Given the description of an element on the screen output the (x, y) to click on. 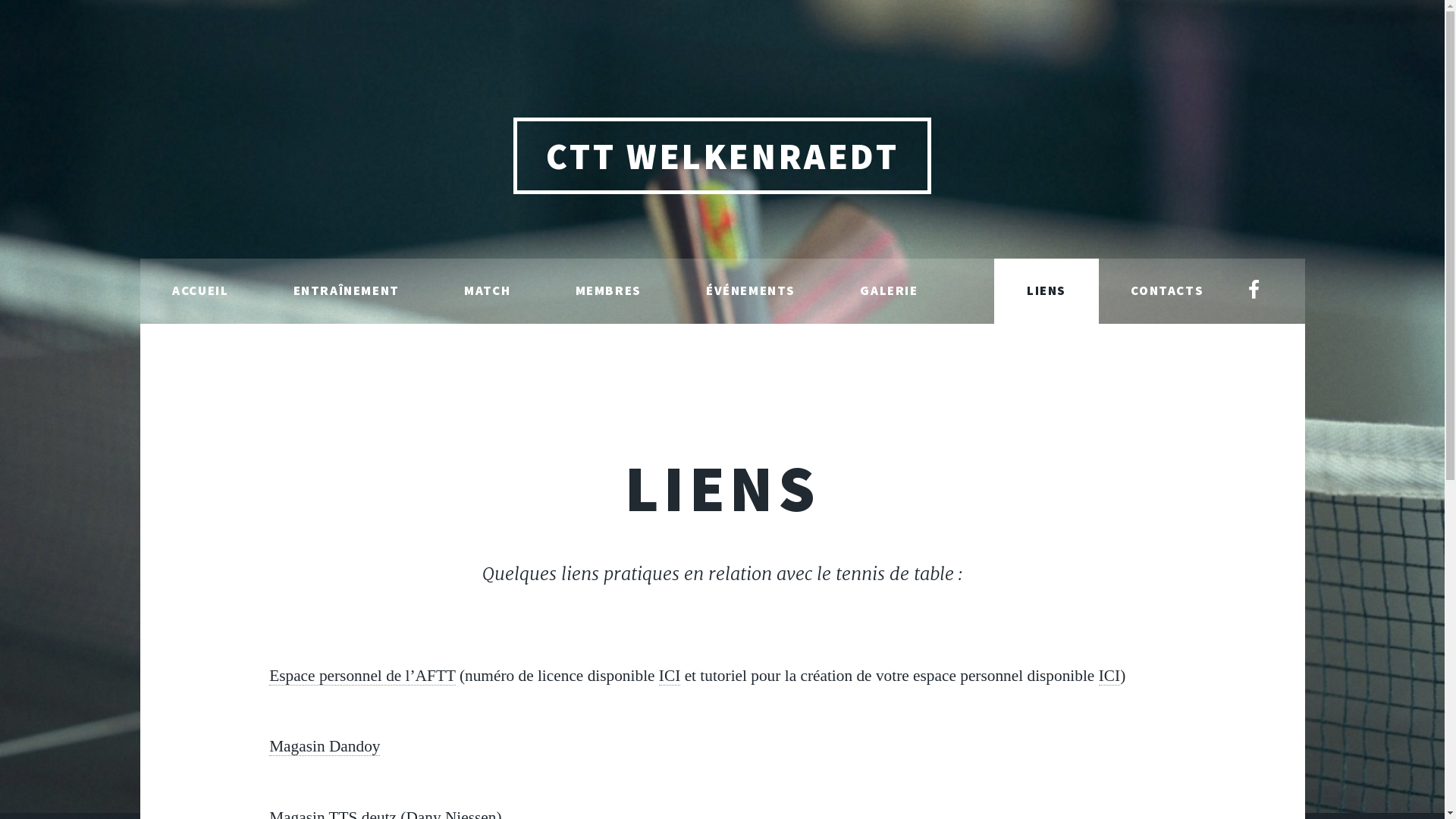
MATCH Element type: text (487, 290)
CONTACTS Element type: text (1167, 290)
MEMBRES Element type: text (608, 290)
ACCUEIL Element type: text (199, 290)
ICI Element type: text (1109, 675)
GALERIE PHOTOS Element type: text (911, 323)
CTT WELKENRAEDT Element type: text (722, 155)
LIENS Element type: text (1046, 290)
ICI Element type: text (669, 675)
Magasin Dandoy Element type: text (324, 746)
